Given the description of an element on the screen output the (x, y) to click on. 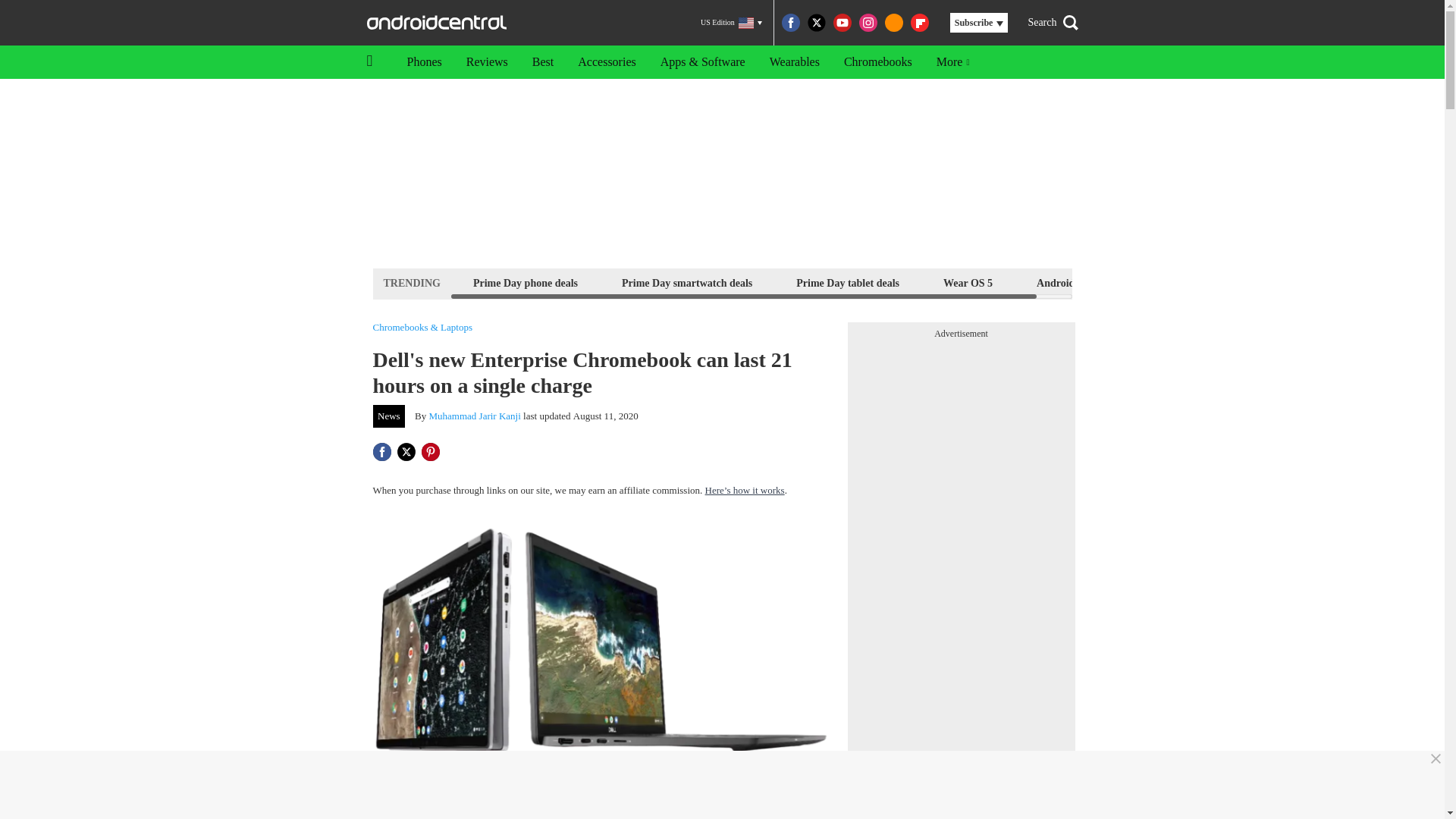
Chromebooks (877, 61)
Prime Day phone deals (525, 282)
Prime Day smartwatch deals (686, 282)
Reviews (486, 61)
Android 15 (1061, 282)
Wearables (794, 61)
Best (542, 61)
Phones (423, 61)
Accessories (606, 61)
Wear OS 5 (967, 282)
Prime Day tablet deals (847, 282)
